Given the description of an element on the screen output the (x, y) to click on. 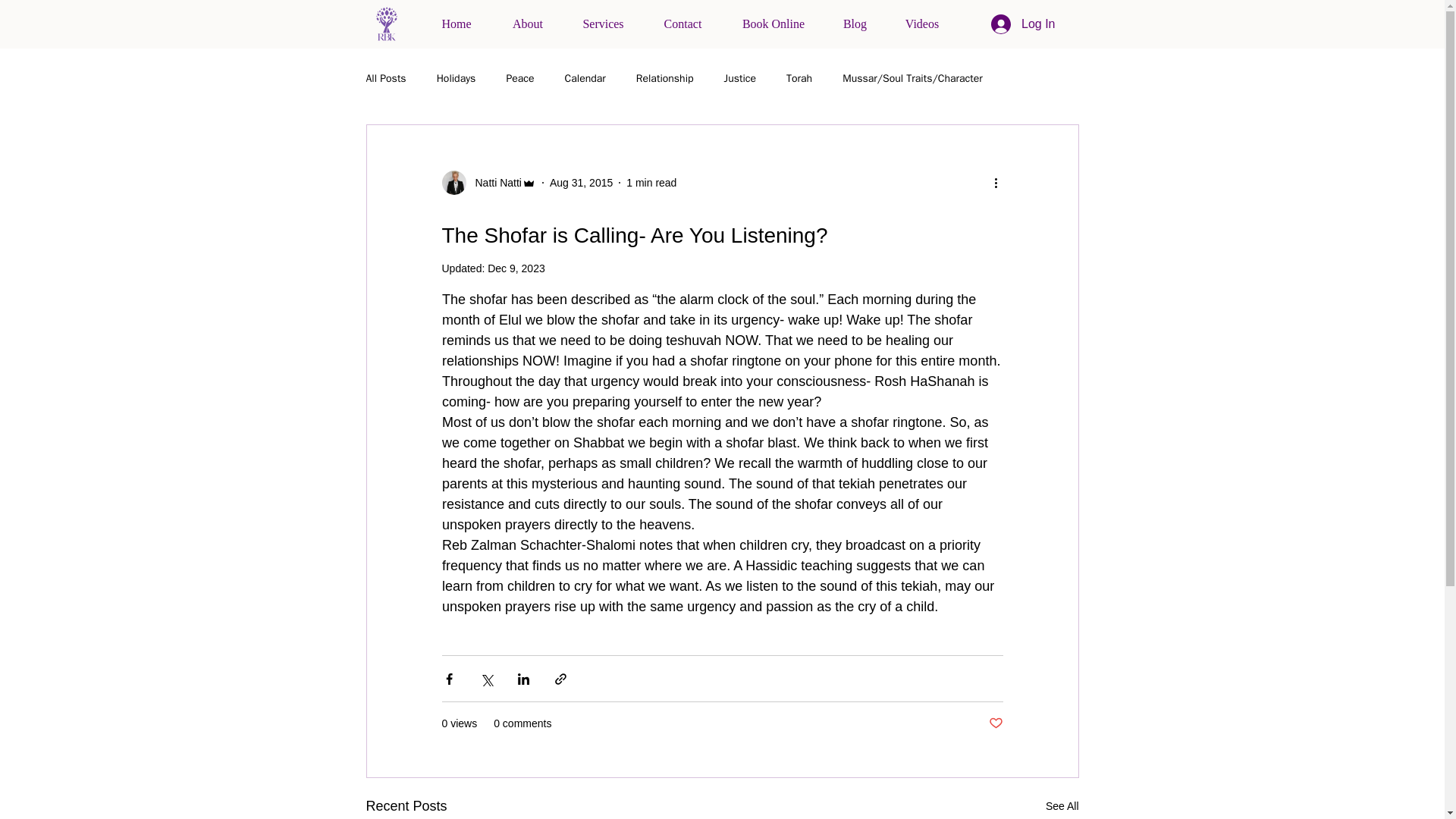
Dec 9, 2023 (515, 268)
Contact (682, 23)
1 min read (651, 182)
Holidays (456, 78)
Post not marked as liked (995, 723)
Torah (799, 78)
Justice (740, 78)
Natti Natti (488, 182)
Services (603, 23)
Peace (519, 78)
Natti Natti  (493, 182)
About (528, 23)
See All (1061, 806)
Log In (1022, 23)
Calendar (584, 78)
